Given the description of an element on the screen output the (x, y) to click on. 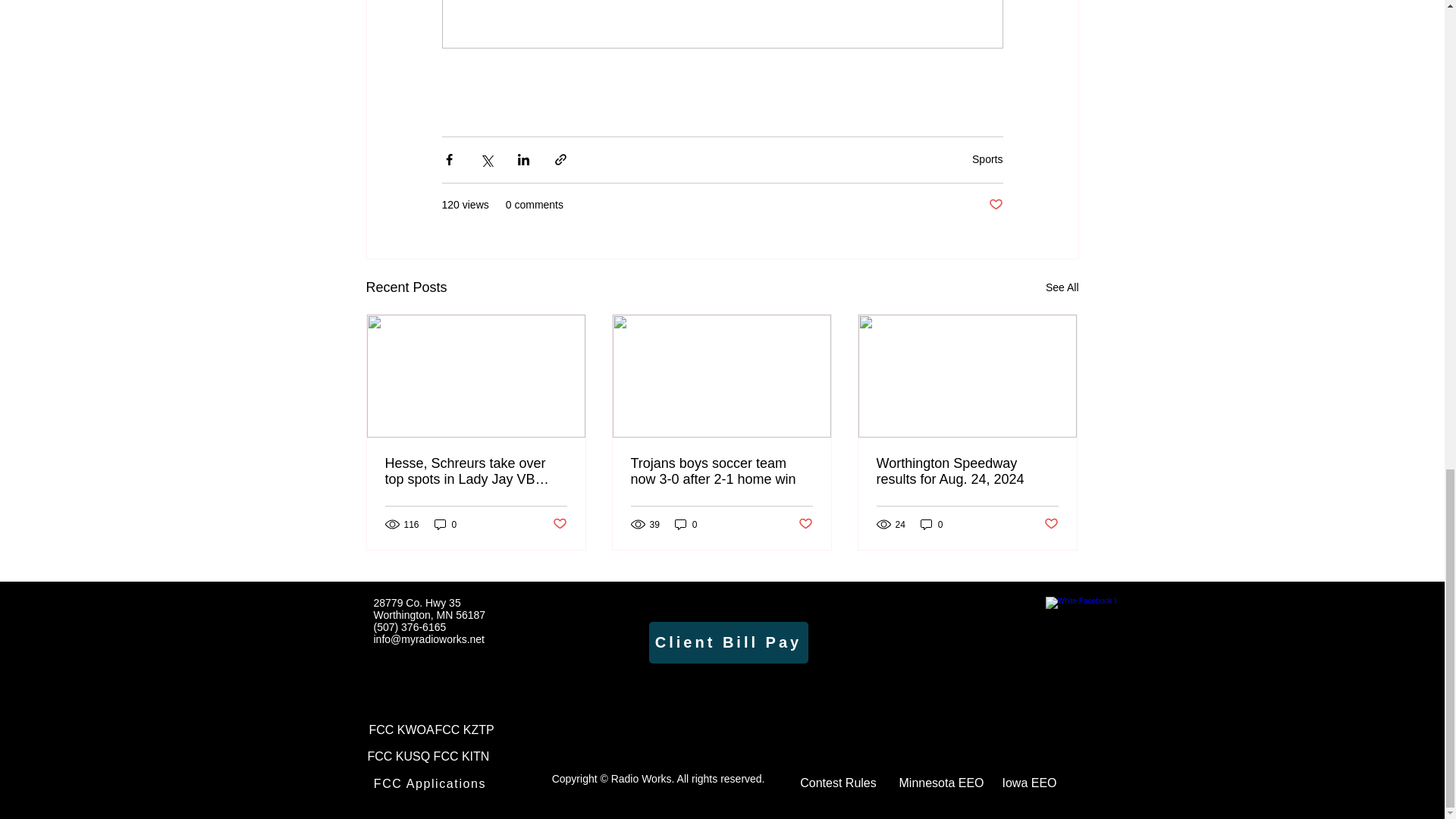
0 (445, 523)
Post not marked as liked (995, 204)
See All (1061, 287)
Post not marked as liked (558, 524)
Sports (987, 159)
